Given the description of an element on the screen output the (x, y) to click on. 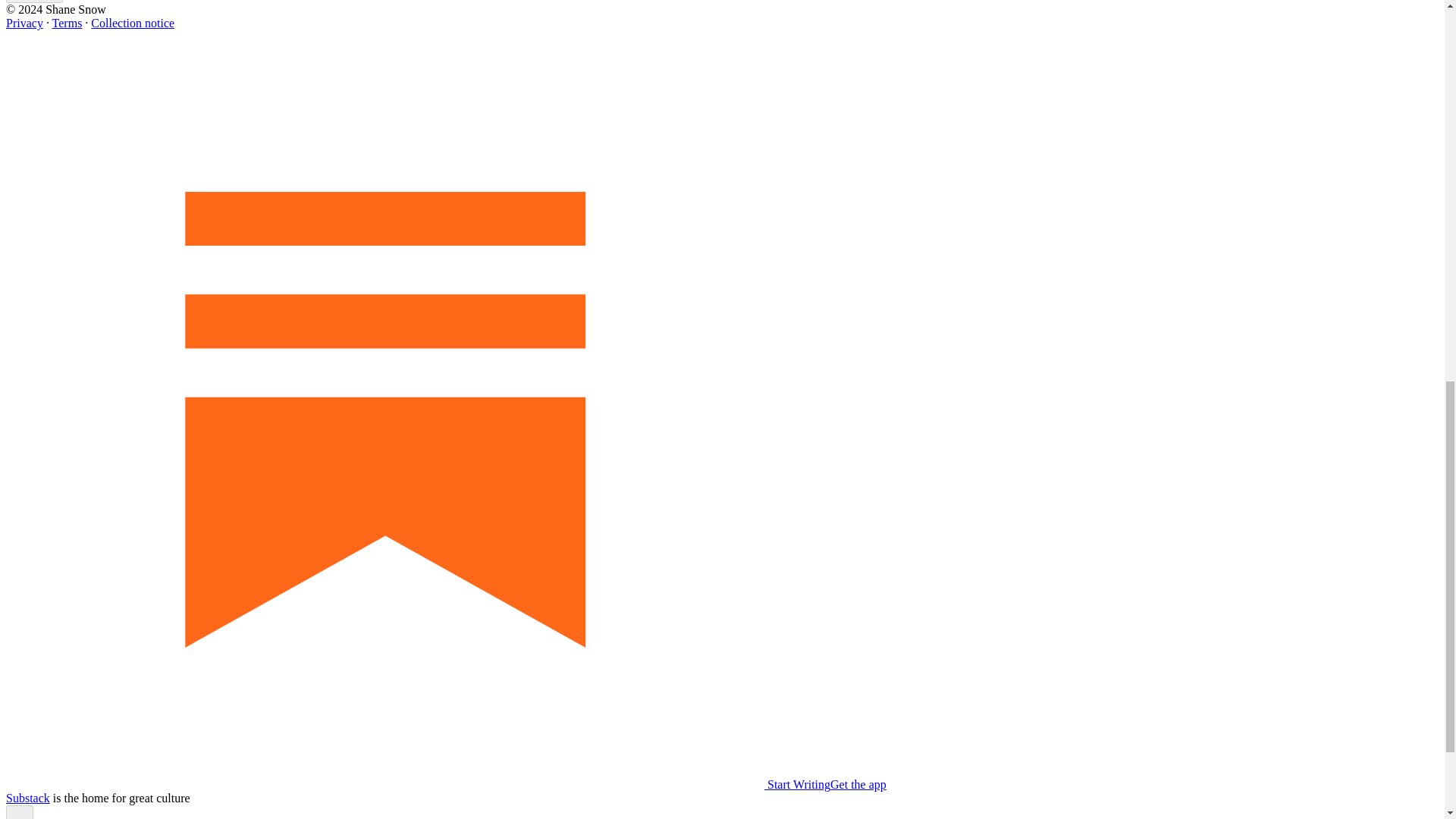
Get the app (857, 784)
Privacy (24, 22)
Start Writing (417, 784)
Terms (67, 22)
Collection notice (132, 22)
Substack (27, 797)
Subscribe (33, 1)
